Given the description of an element on the screen output the (x, y) to click on. 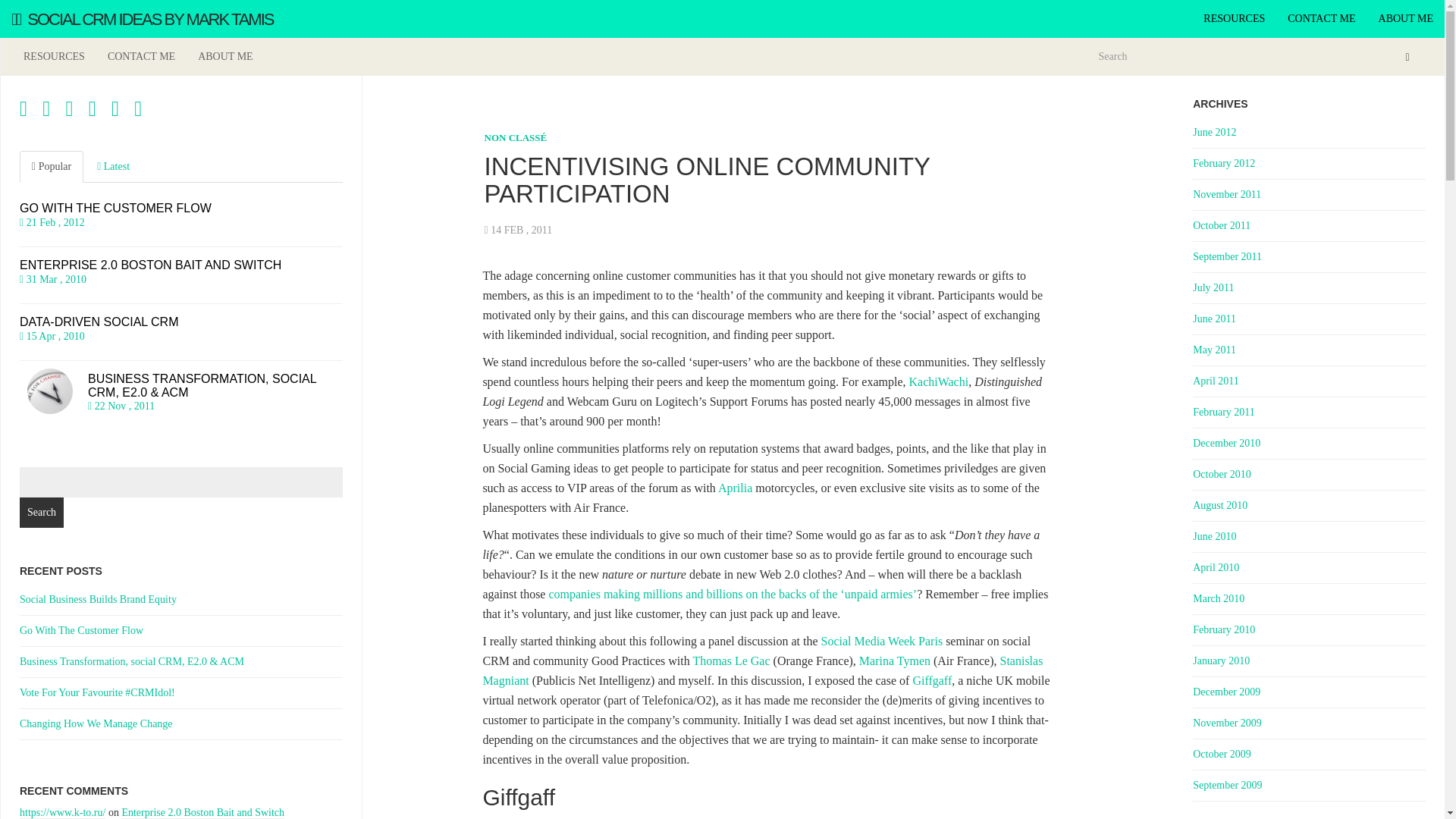
RESOURCES (53, 56)
Aprilia (734, 487)
Search (42, 512)
Resources (53, 56)
CONTACT ME (141, 56)
Thomas Le Gac (731, 660)
Giffgaff (932, 680)
CONTACT ME (1321, 18)
Stanislas Magniant (761, 670)
Social Media Week Paris (882, 640)
SOCIAL CRM IDEAS BY MARK TAMIS (141, 18)
Resources (1234, 18)
Social Media Week Paris (882, 640)
ABOUT ME (224, 56)
